Given the description of an element on the screen output the (x, y) to click on. 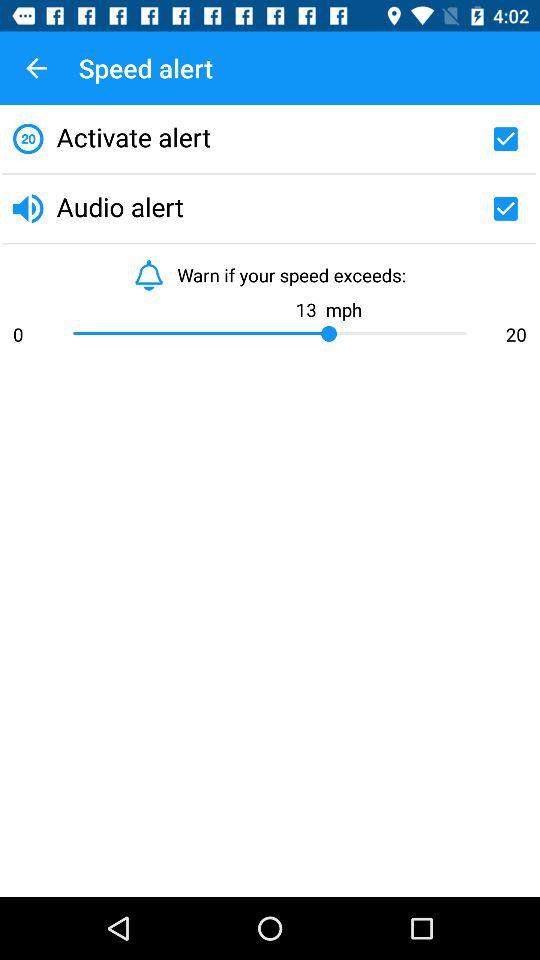
tap the icon above activate alert (36, 68)
